Given the description of an element on the screen output the (x, y) to click on. 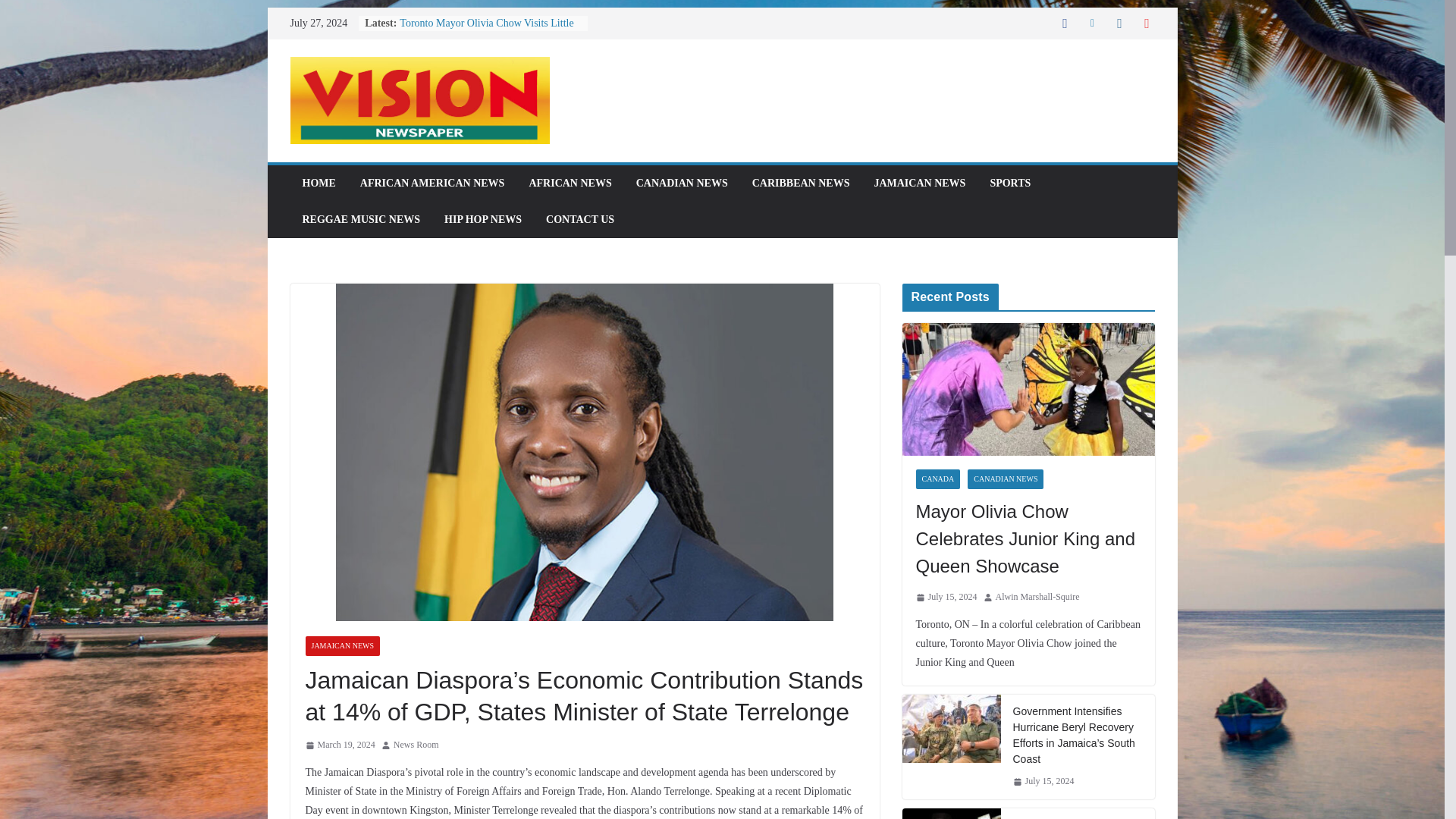
SPORTS (1010, 183)
HOME (317, 183)
8:59 pm (339, 745)
CARIBBEAN NEWS (801, 183)
News Room (416, 745)
REGGAE MUSIC NEWS (360, 219)
AFRICAN AMERICAN NEWS (432, 183)
JAMAICAN NEWS (342, 646)
CANADIAN NEWS (682, 183)
HIP HOP NEWS (482, 219)
News Room (416, 745)
March 19, 2024 (339, 745)
CONTACT US (580, 219)
